Given the description of an element on the screen output the (x, y) to click on. 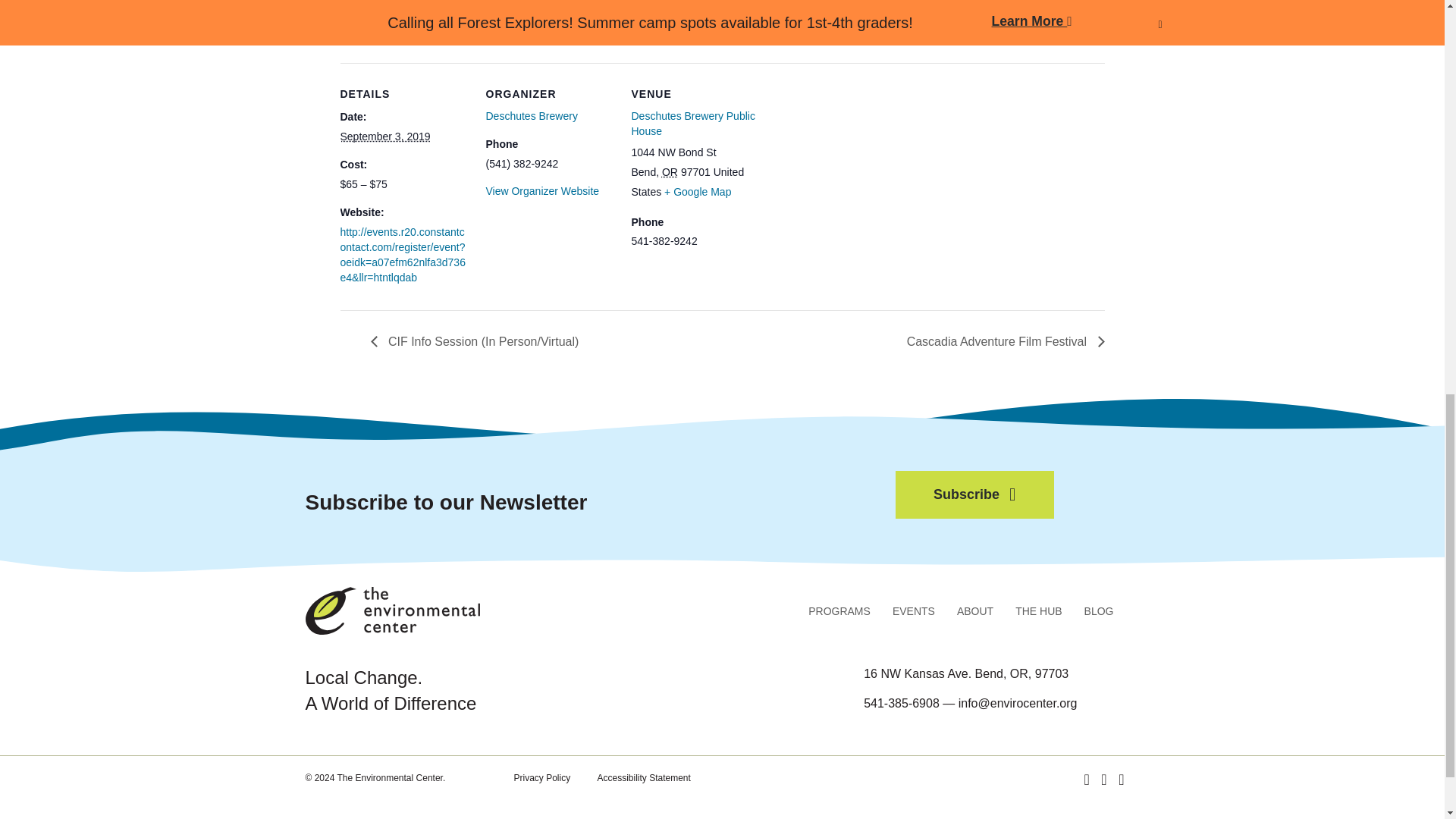
Click to view a Google Map (696, 191)
2019-09-03 (384, 136)
Deschutes Brewery (530, 115)
Oregon (670, 172)
